Given the description of an element on the screen output the (x, y) to click on. 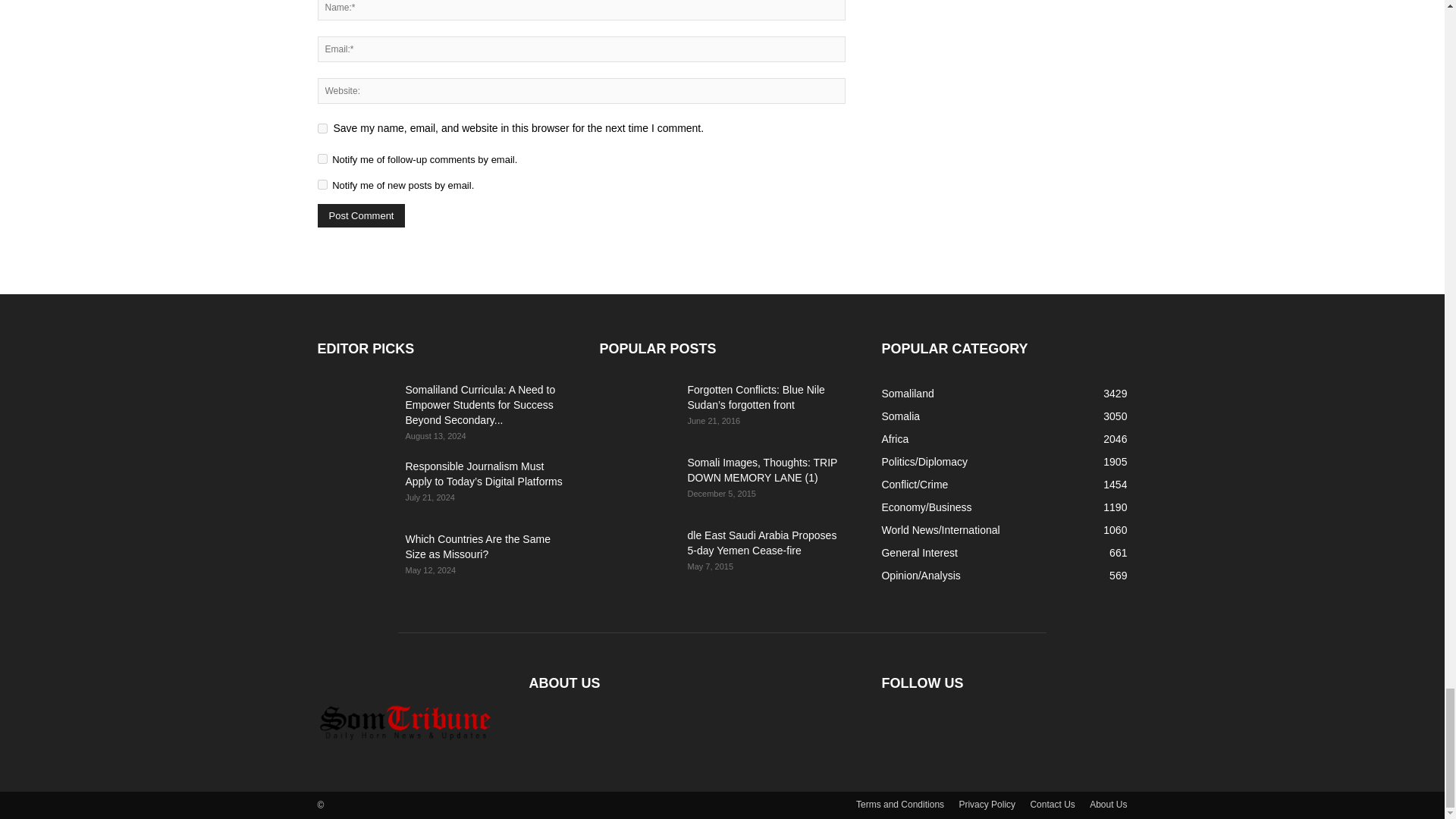
subscribe (321, 184)
Post Comment (360, 215)
yes (321, 128)
subscribe (321, 158)
